Given the description of an element on the screen output the (x, y) to click on. 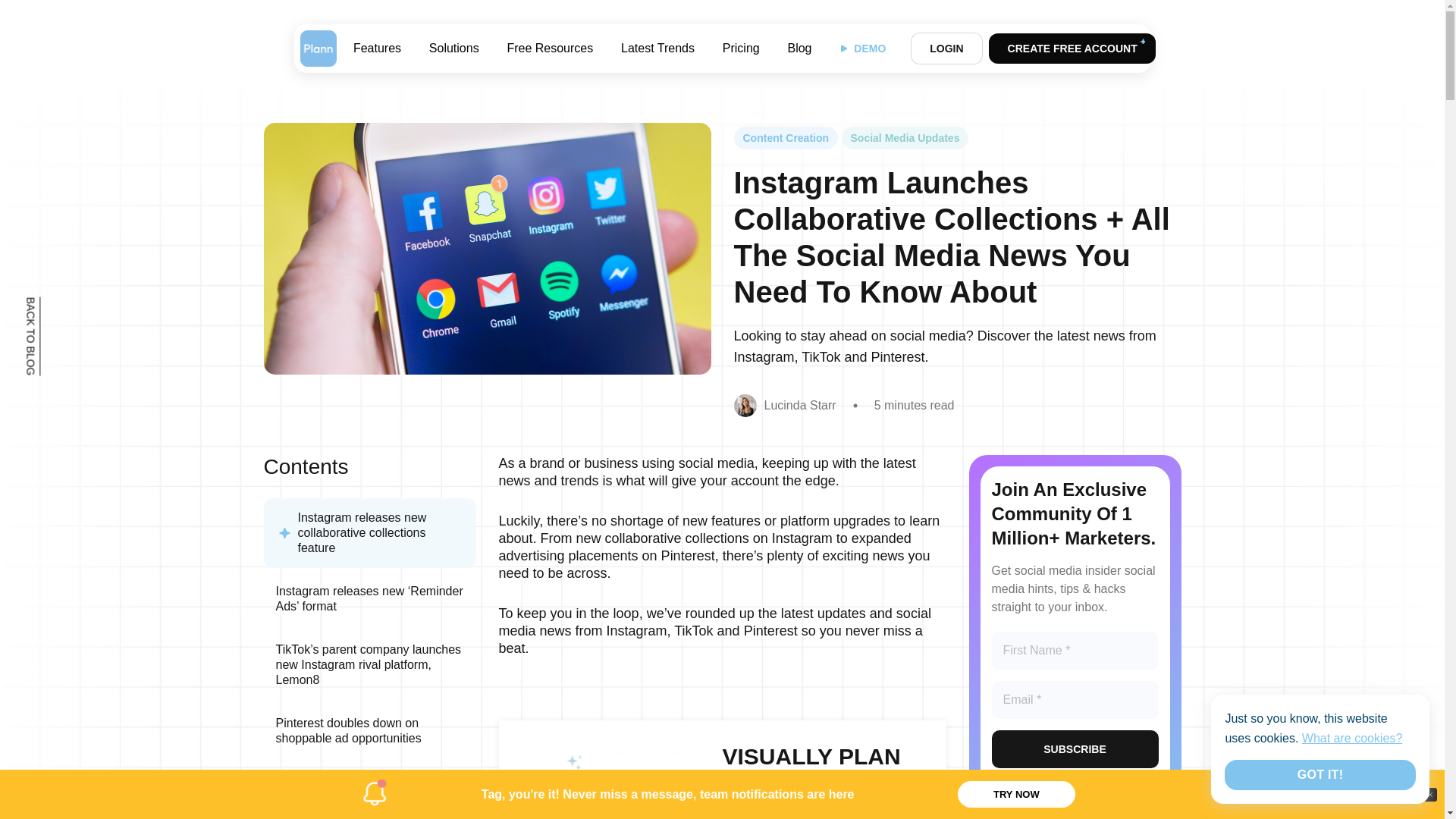
Go Home (317, 48)
Subscribe (1074, 749)
